Given the description of an element on the screen output the (x, y) to click on. 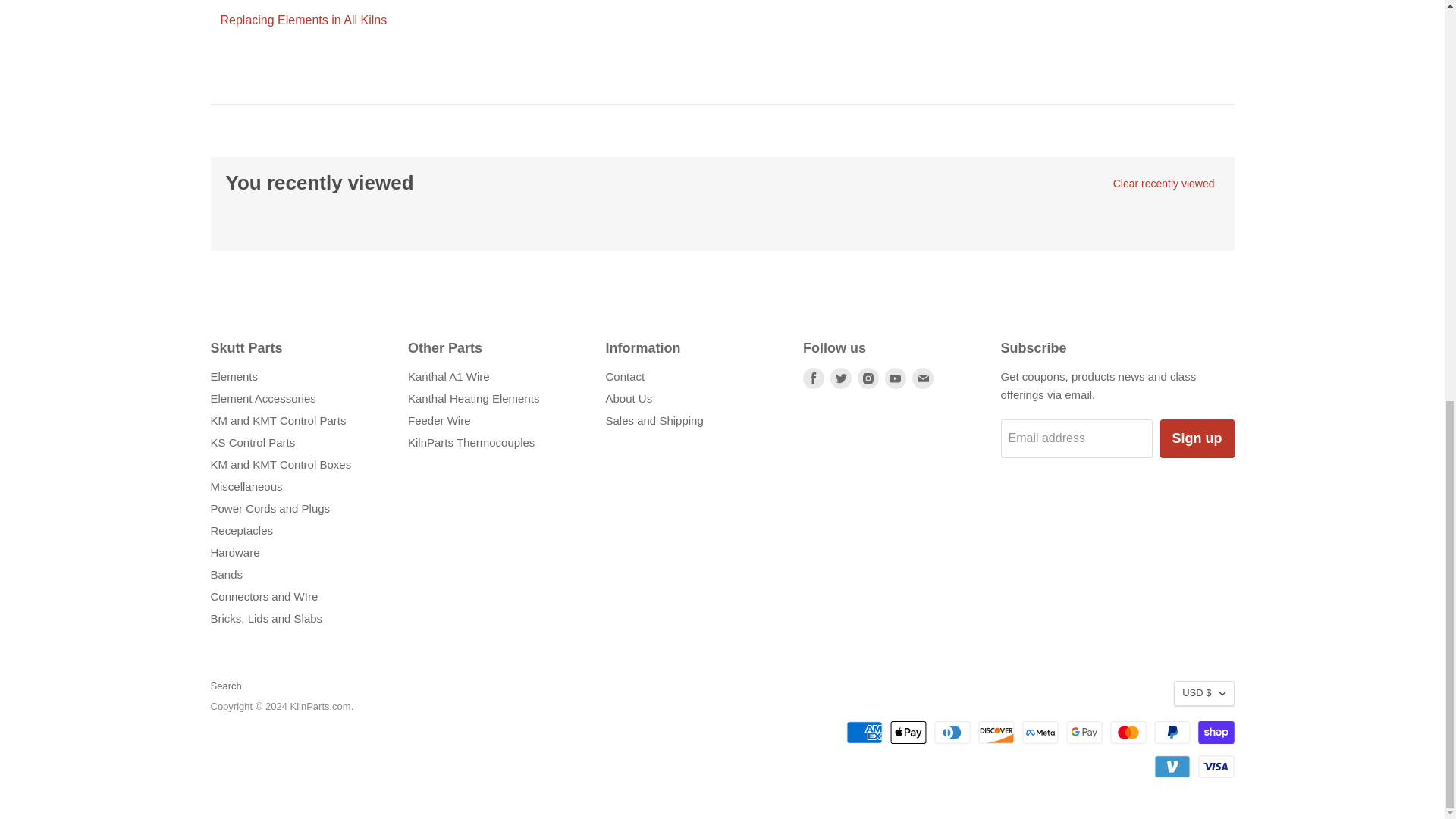
Youtube (895, 378)
Instagram (868, 378)
Facebook (813, 378)
E-mail (922, 378)
Twitter (840, 378)
American Express (863, 732)
Diners Club (952, 732)
Apple Pay (907, 732)
